Given the description of an element on the screen output the (x, y) to click on. 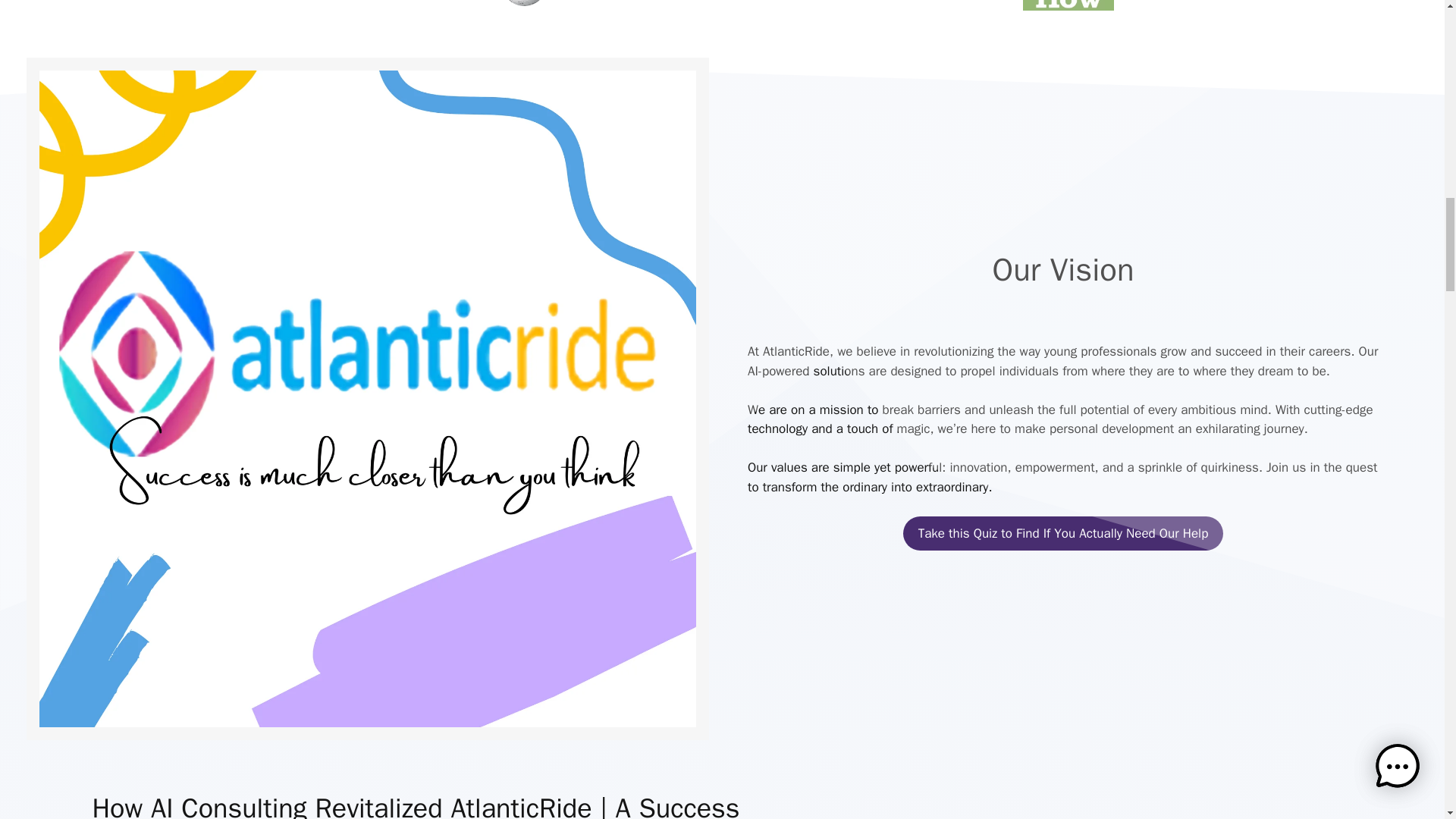
Take this Quiz to Find If You Actually Need Our Help (1063, 533)
Home 3 (549, 6)
Home 6 (1067, 5)
